Given the description of an element on the screen output the (x, y) to click on. 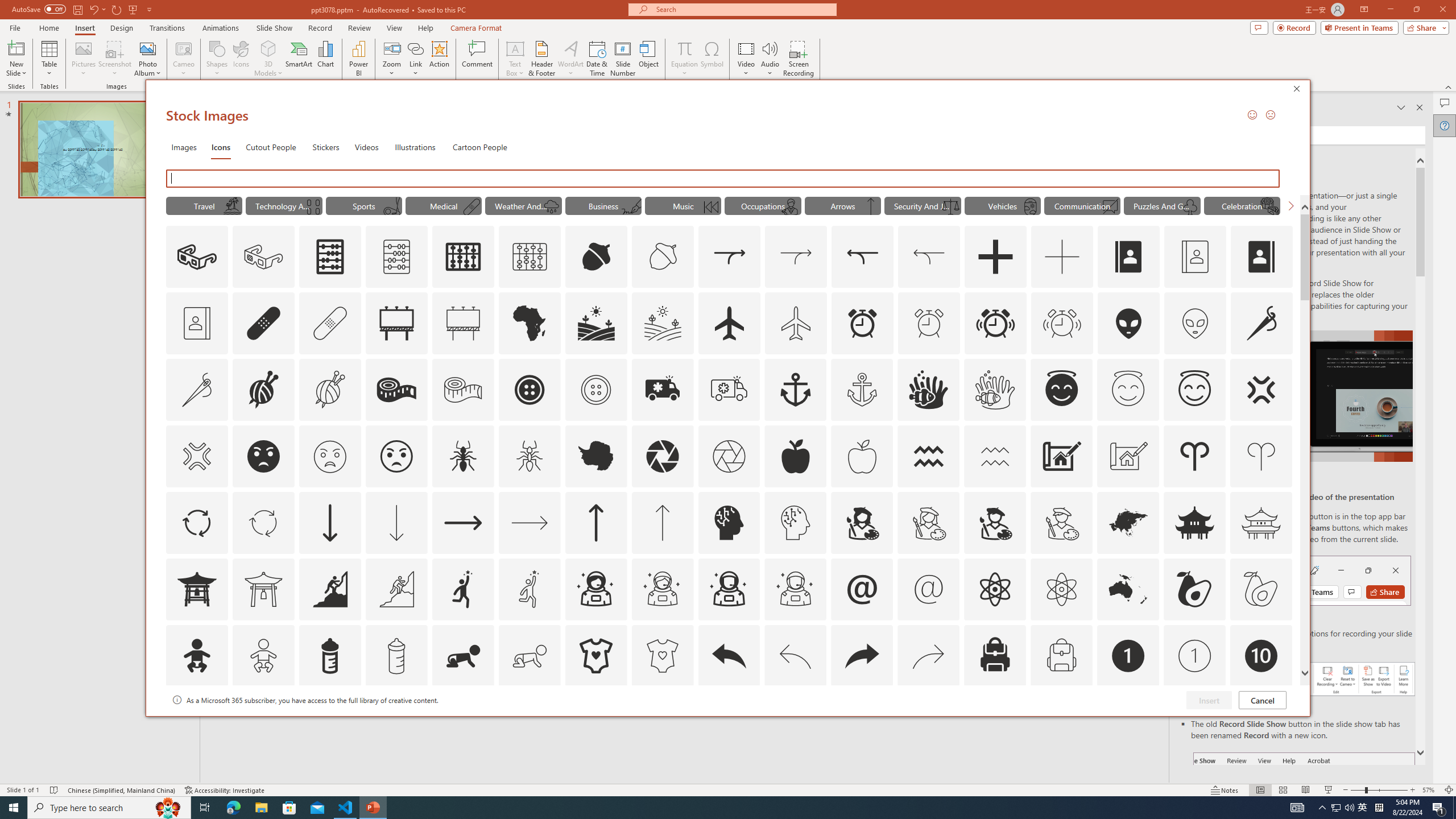
AutomationID: Icons_Asia (1128, 522)
AutomationID: Icons_Ambulance (662, 389)
AutomationID: Icons (1260, 721)
AutomationID: Icons_AsianTemple (1194, 522)
Send a Smile (1251, 114)
Videos (366, 146)
AutomationID: Icons_At (861, 588)
